Given the description of an element on the screen output the (x, y) to click on. 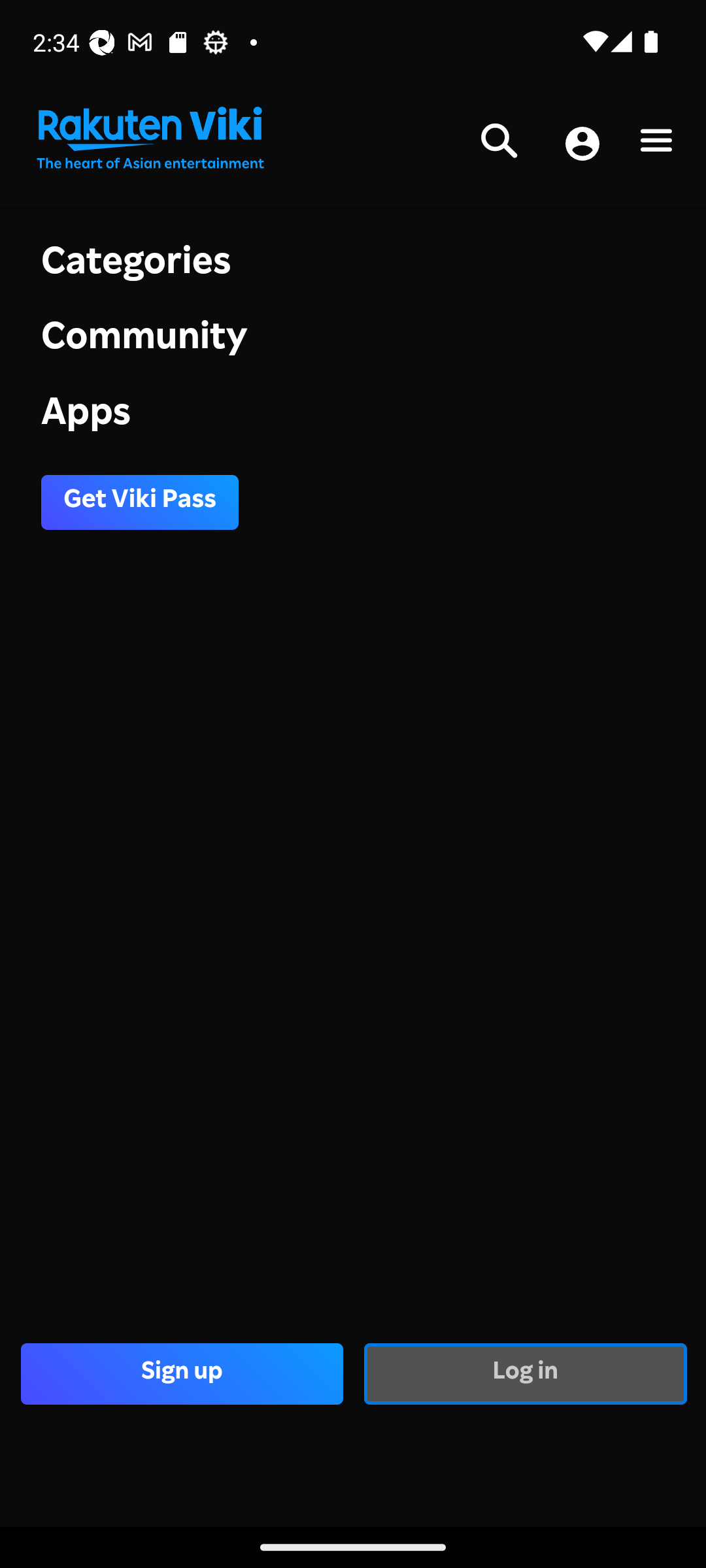
Go to homepage Rakuten Viki (149, 138)
nav.session.login (582, 144)
Settings menu (655, 143)
Categories (353, 263)
Community (353, 340)
Apps (353, 415)
Get Viki Pass (140, 501)
Sign up (181, 1373)
Log in (524, 1373)
